Given the description of an element on the screen output the (x, y) to click on. 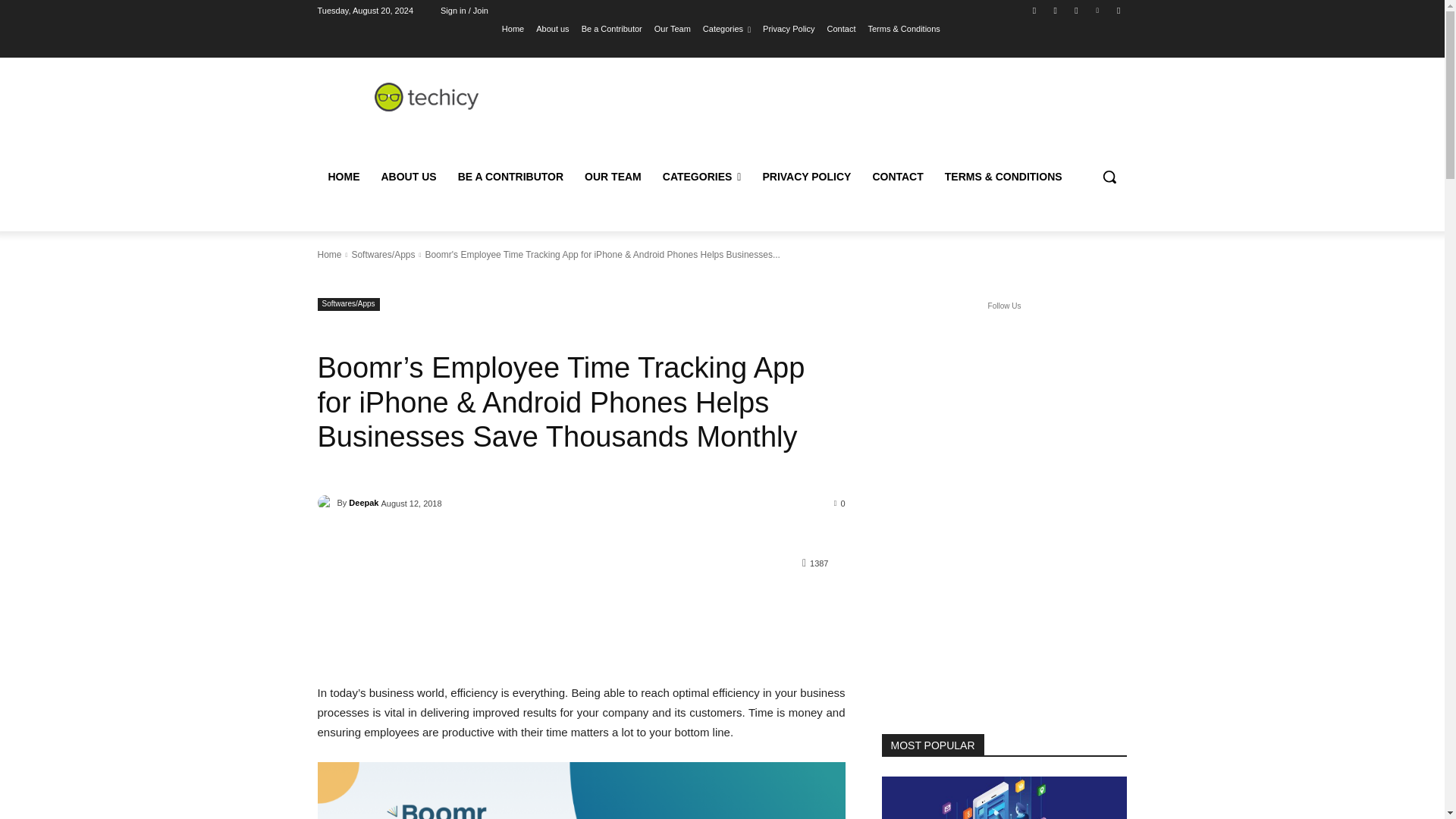
Youtube (1117, 9)
Our Team (671, 28)
Deepak (326, 502)
Be a Contributor (611, 28)
Twitter (1075, 9)
About us (552, 28)
Categories (727, 28)
Contact (841, 28)
Privacy Policy (787, 28)
Home (513, 28)
